Given the description of an element on the screen output the (x, y) to click on. 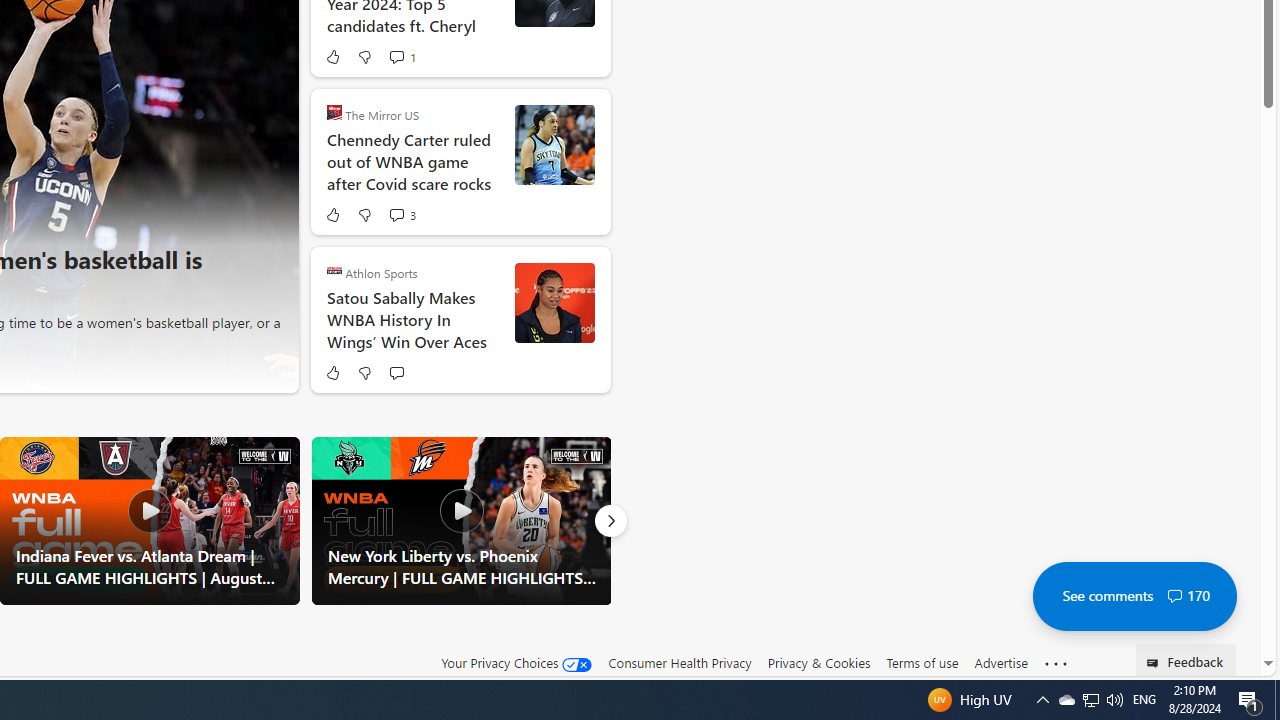
Terms of use (921, 662)
usatsi_21497924 (554, 302)
Advertise (1000, 663)
Terms of use (921, 663)
View comments 1 Comment (395, 56)
Like (332, 372)
Class: feedback_link_icon-DS-EntryPoint1-1 (1156, 663)
View comments 3 Comment (395, 215)
Privacy & Cookies (818, 662)
Class: cwt-icon-vector (1174, 596)
